Given the description of an element on the screen output the (x, y) to click on. 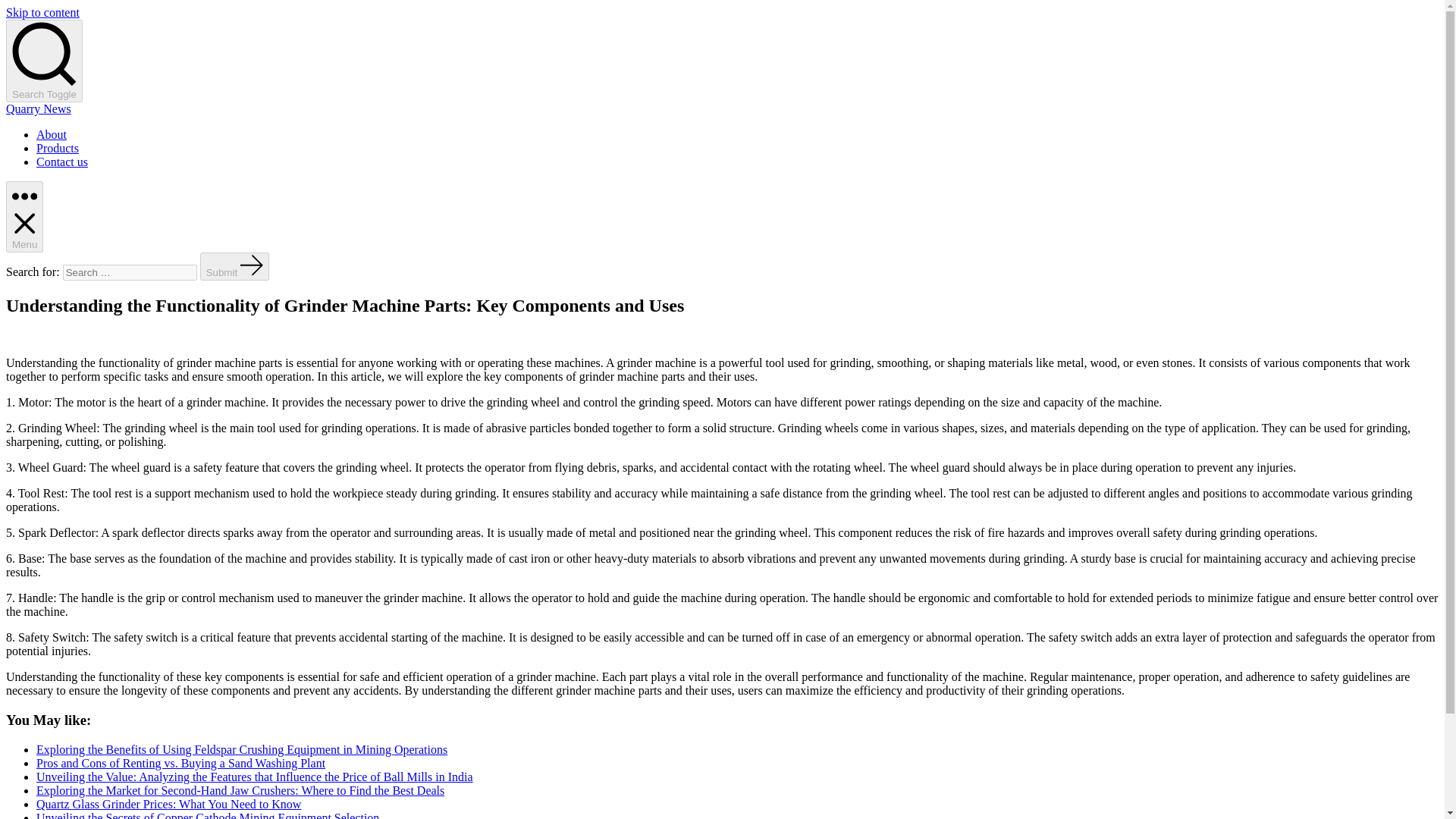
Quartz Glass Grinder Prices: What You Need to Know (168, 803)
Pros and Cons of Renting vs. Buying a Sand Washing Plant (180, 762)
Search Toggle (43, 60)
Quarry News (38, 108)
Skip to content (42, 11)
About (51, 133)
Products (57, 147)
Submit (234, 266)
Contact us (61, 161)
